Given the description of an element on the screen output the (x, y) to click on. 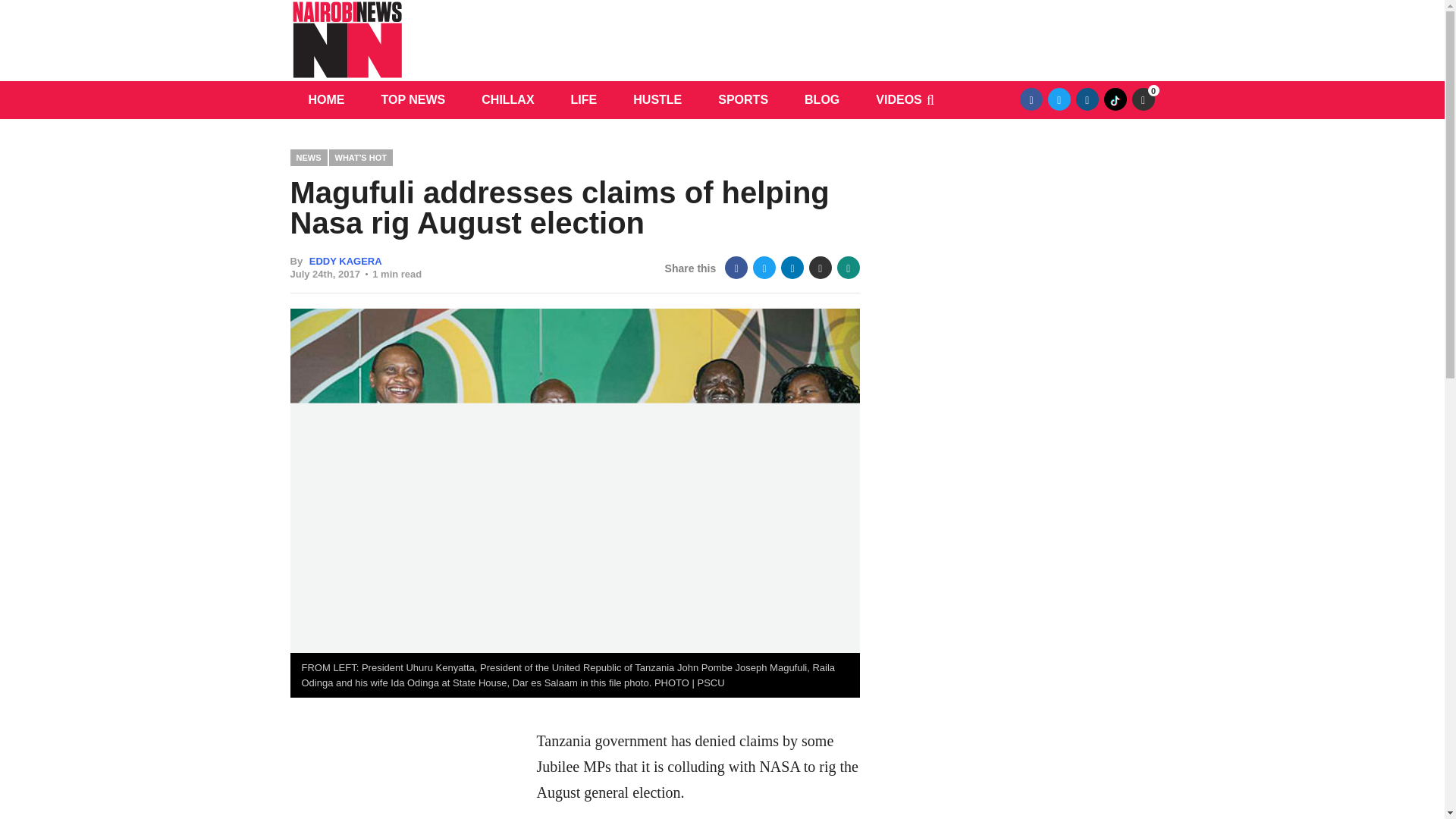
LIFE (584, 99)
Twitter (1059, 98)
WHAT'S HOT (360, 157)
WhatsApp (848, 267)
TOP NEWS (412, 99)
Email (820, 267)
VIDEOS (898, 99)
LinkedIn (791, 267)
HUSTLE (657, 99)
BLOG (821, 99)
Updates made in the last 20 minutes (1142, 98)
Twitter (764, 267)
NEWS (307, 157)
EDDY KAGERA (344, 260)
Facebook (1031, 98)
